Given the description of an element on the screen output the (x, y) to click on. 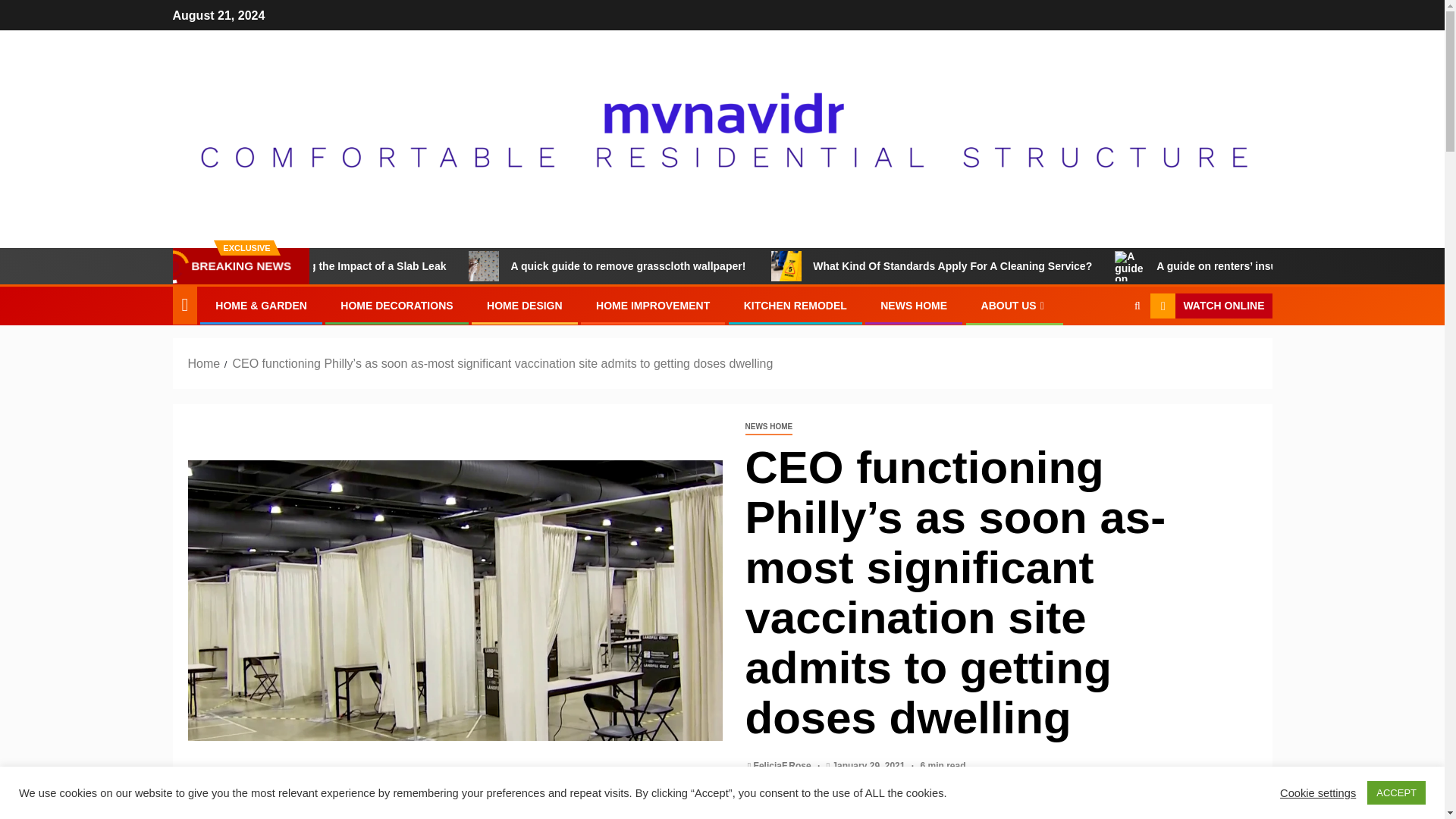
NEWS HOME (913, 305)
HOME DESIGN (524, 305)
Home (204, 363)
What Kind Of Standards Apply For A Cleaning Service? (853, 265)
What Kind Of Standards Apply For A Cleaning Service? (1052, 265)
HOME DECORATIONS (396, 305)
A quick guide to remove grasscloth wallpaper!  (730, 265)
NEWS HOME (768, 426)
Search (1107, 352)
FeliciaF.Rose (783, 765)
